Given the description of an element on the screen output the (x, y) to click on. 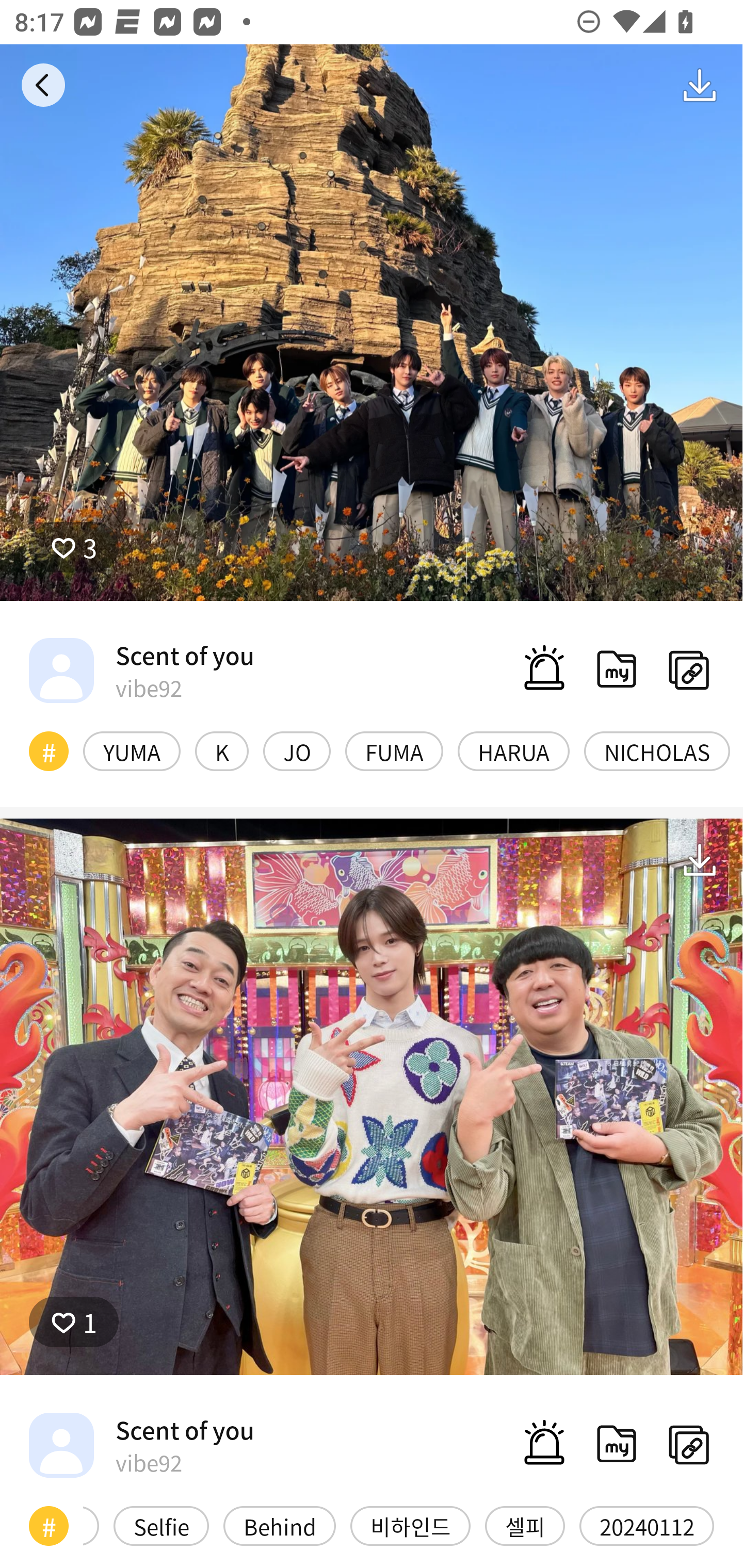
3 (371, 322)
3 (73, 547)
Scent of you vibe92 (141, 670)
YUMA (131, 750)
K (221, 750)
JO (296, 750)
FUMA (394, 750)
HARUA (513, 750)
NICHOLAS (656, 750)
1 (371, 1096)
1 (73, 1321)
Scent of you vibe92 (141, 1444)
Selfie (160, 1526)
Behind (279, 1526)
비하인드 (410, 1526)
셀피 (524, 1526)
20240112 (646, 1526)
